Given the description of an element on the screen output the (x, y) to click on. 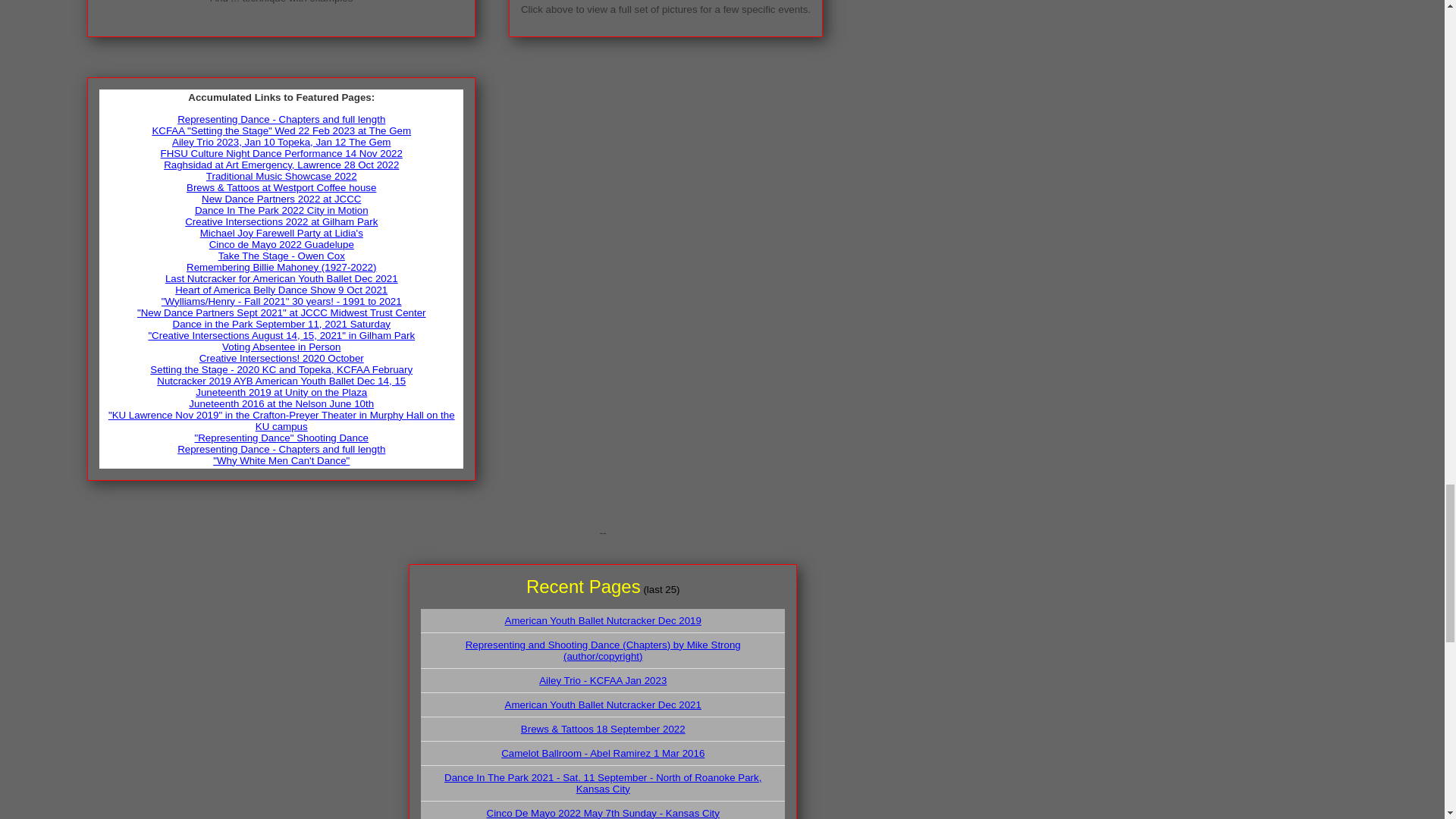
Dance in the Park September 11, 2021 Saturday (281, 324)
Dance In The Park 2022 City in Motion (281, 210)
Take The Stage - Owen Cox (281, 255)
Creative Intersections 2022 at Gilham Park (280, 221)
FHSU Culture Night Dance Performance 14 Nov 2022 (281, 153)
Ailey Trio 2023, Jan 10 Topeka, Jan 12 The Gem (280, 142)
Last Nutcracker for American Youth Ballet Dec 2021 (281, 278)
KCFAA "Setting the Stage" Wed 22 Feb 2023 at The Gem (280, 130)
Raghsidad at Art Emergency, Lawrence 28 Oct 2022 (280, 164)
"Creative Intersections August 14, 15, 2021" in Gilham Park (281, 335)
Representing Dance - Chapters and full length (281, 119)
Michael Joy Farewell Party at Lidia's (281, 233)
New Dance Partners 2022 at JCCC (281, 198)
Traditional Music Showcase 2022 (281, 175)
Creative Intersections! 2020 October (281, 357)
